Given the description of an element on the screen output the (x, y) to click on. 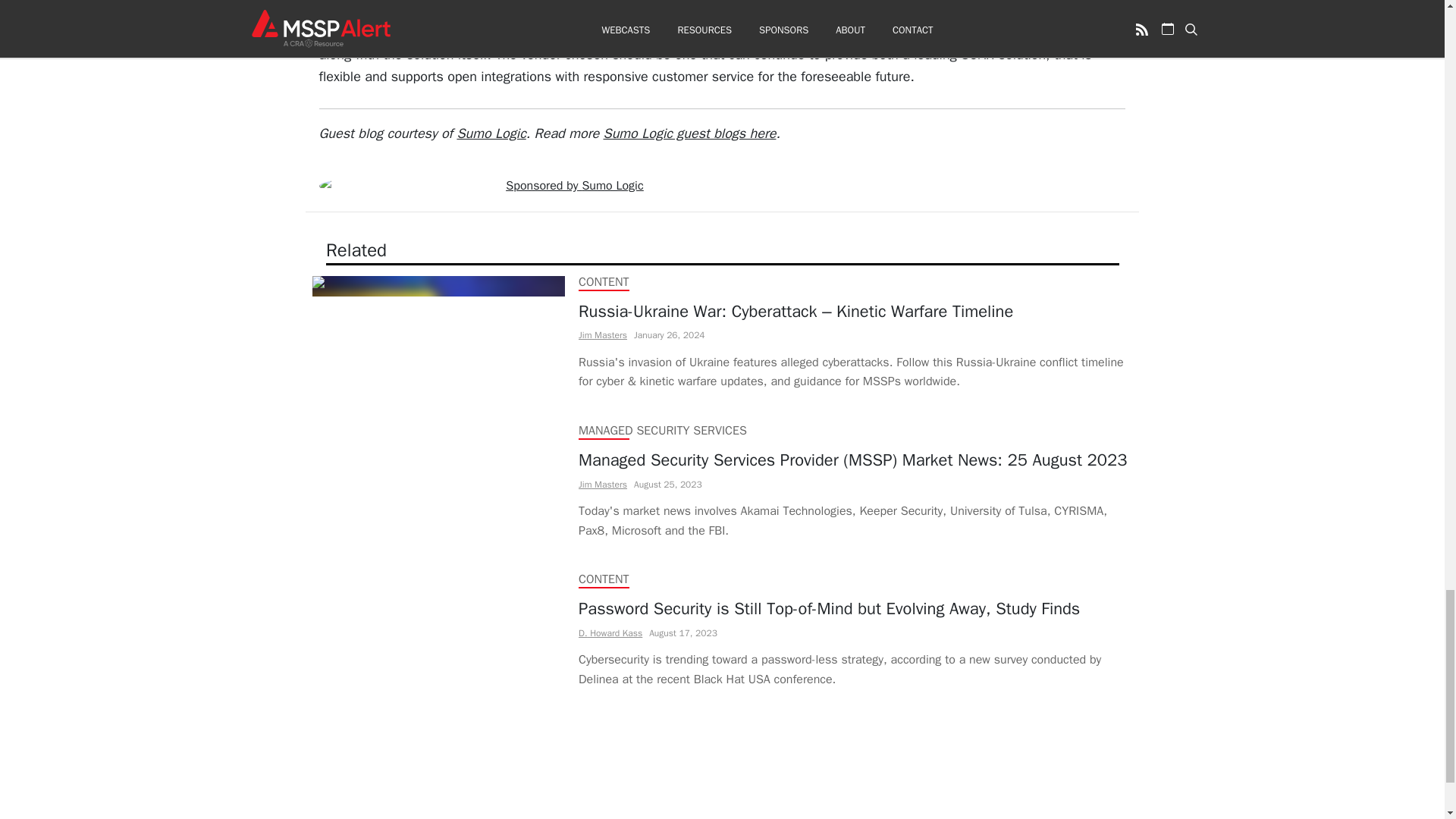
CONTENT (603, 579)
Jim Masters (602, 335)
Sumo Logic (491, 133)
D. Howard Kass (610, 632)
CONTENT (603, 281)
Sumo Logic guest blogs here (690, 133)
MANAGED SECURITY SERVICES (661, 430)
Jim Masters (602, 483)
Sponsored by Sumo Logic (574, 185)
